Given the description of an element on the screen output the (x, y) to click on. 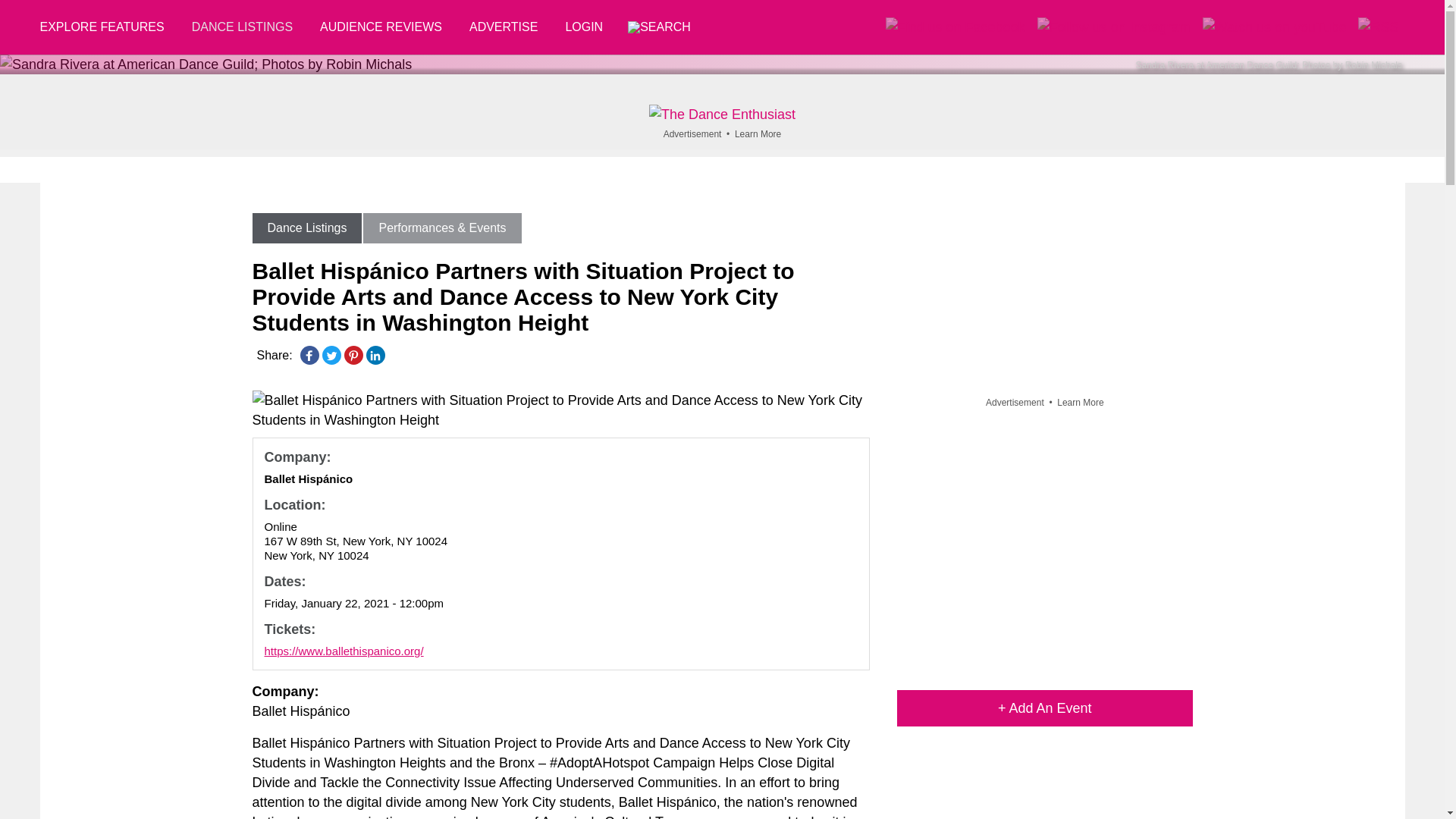
Twitter (331, 354)
ADVERTISE (503, 27)
DANCE LISTINGS (241, 27)
Pinterest (353, 354)
LOGIN (583, 27)
Facebook (309, 354)
EXPLORE FEATURES (108, 27)
LinkedIn (375, 354)
AUDIENCE REVIEWS (380, 27)
